Given the description of an element on the screen output the (x, y) to click on. 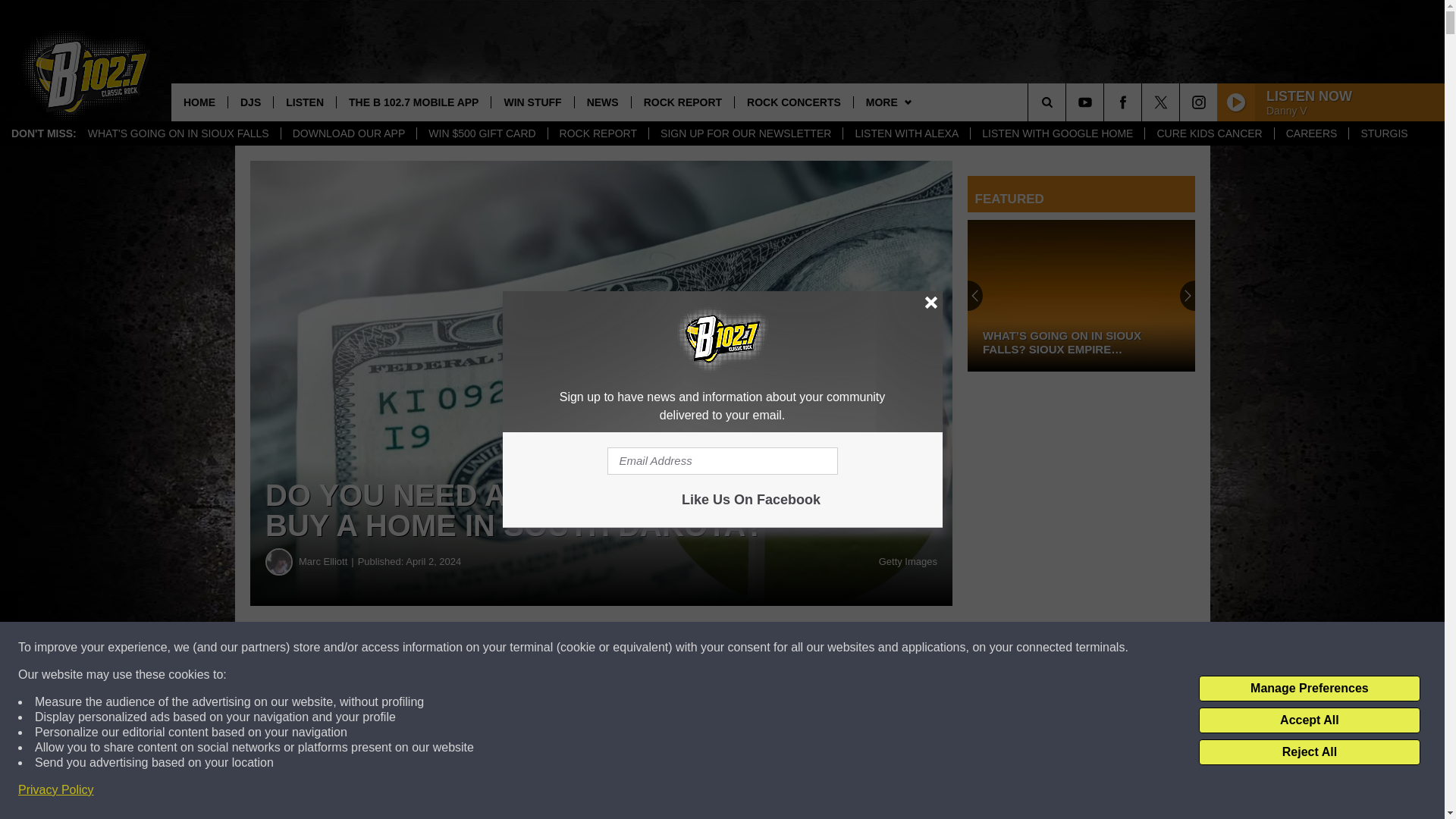
HOME (199, 102)
Reject All (1309, 751)
STURGIS (1383, 133)
CAREERS (1311, 133)
Email Address (722, 461)
DJS (250, 102)
LISTEN WITH ALEXA (906, 133)
CURE KIDS CANCER (1208, 133)
Share on Facebook (460, 647)
ROCK REPORT (597, 133)
WHAT'S GOING ON IN SIOUX FALLS (179, 133)
Share on Twitter (741, 647)
Manage Preferences (1309, 688)
LISTEN WITH GOOGLE HOME (1056, 133)
SEARCH (1068, 102)
